Given the description of an element on the screen output the (x, y) to click on. 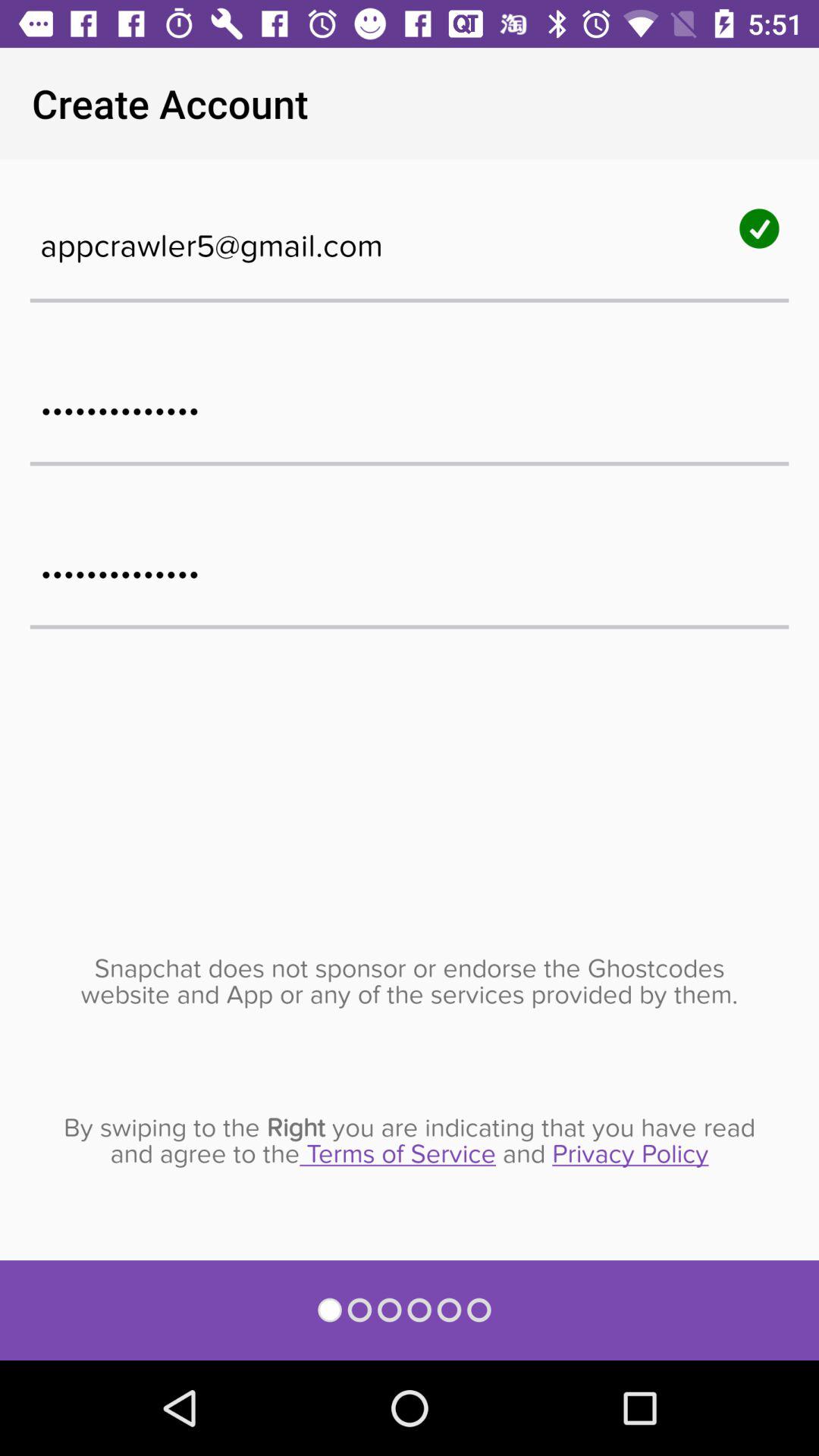
click by swiping to item (409, 1141)
